Given the description of an element on the screen output the (x, y) to click on. 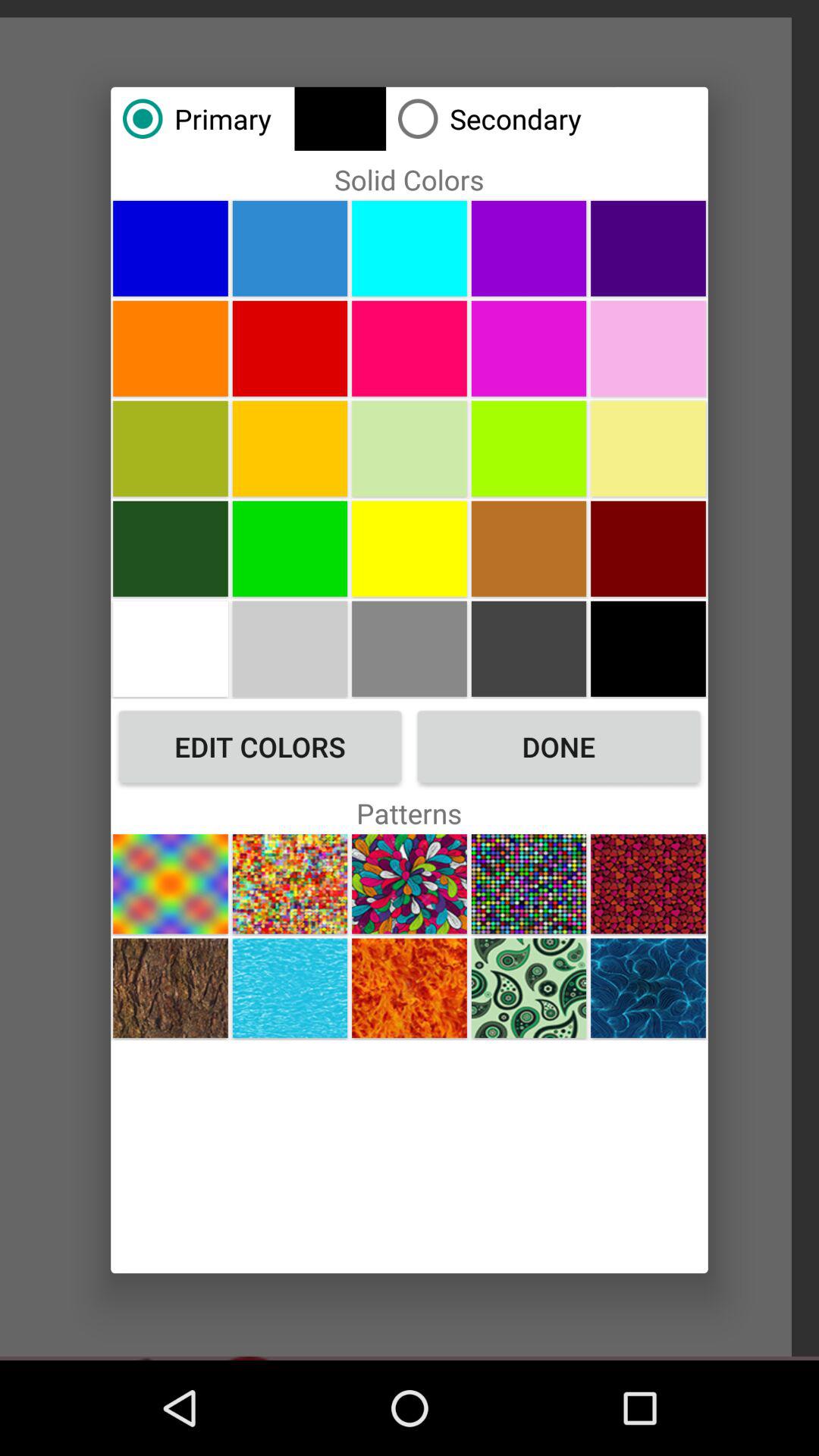
select primary color cream (647, 448)
